Given the description of an element on the screen output the (x, y) to click on. 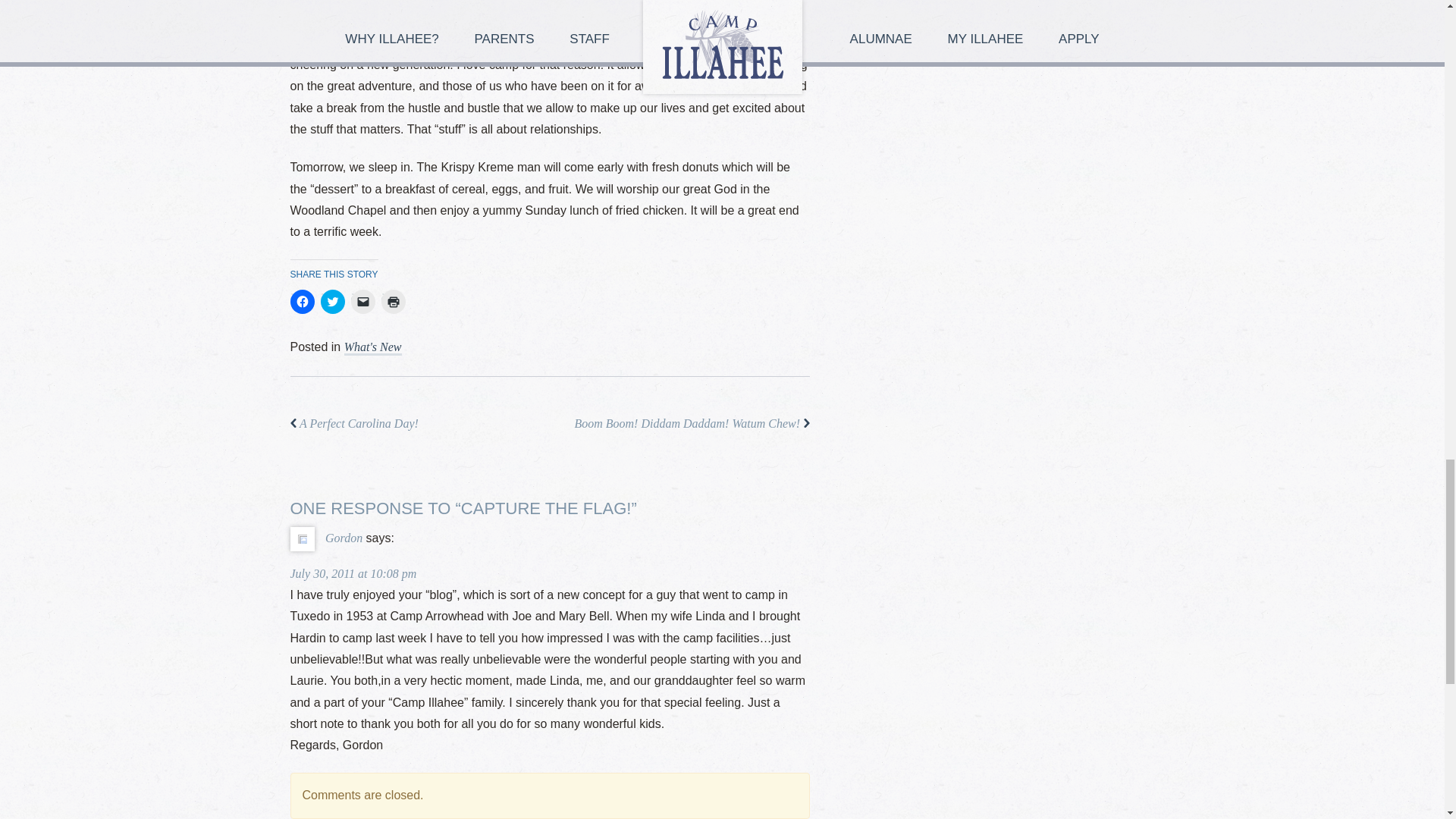
Click to print (392, 301)
Click to email a link to a friend (362, 301)
Click to share on Facebook (301, 301)
Click to share on Twitter (331, 301)
